Given the description of an element on the screen output the (x, y) to click on. 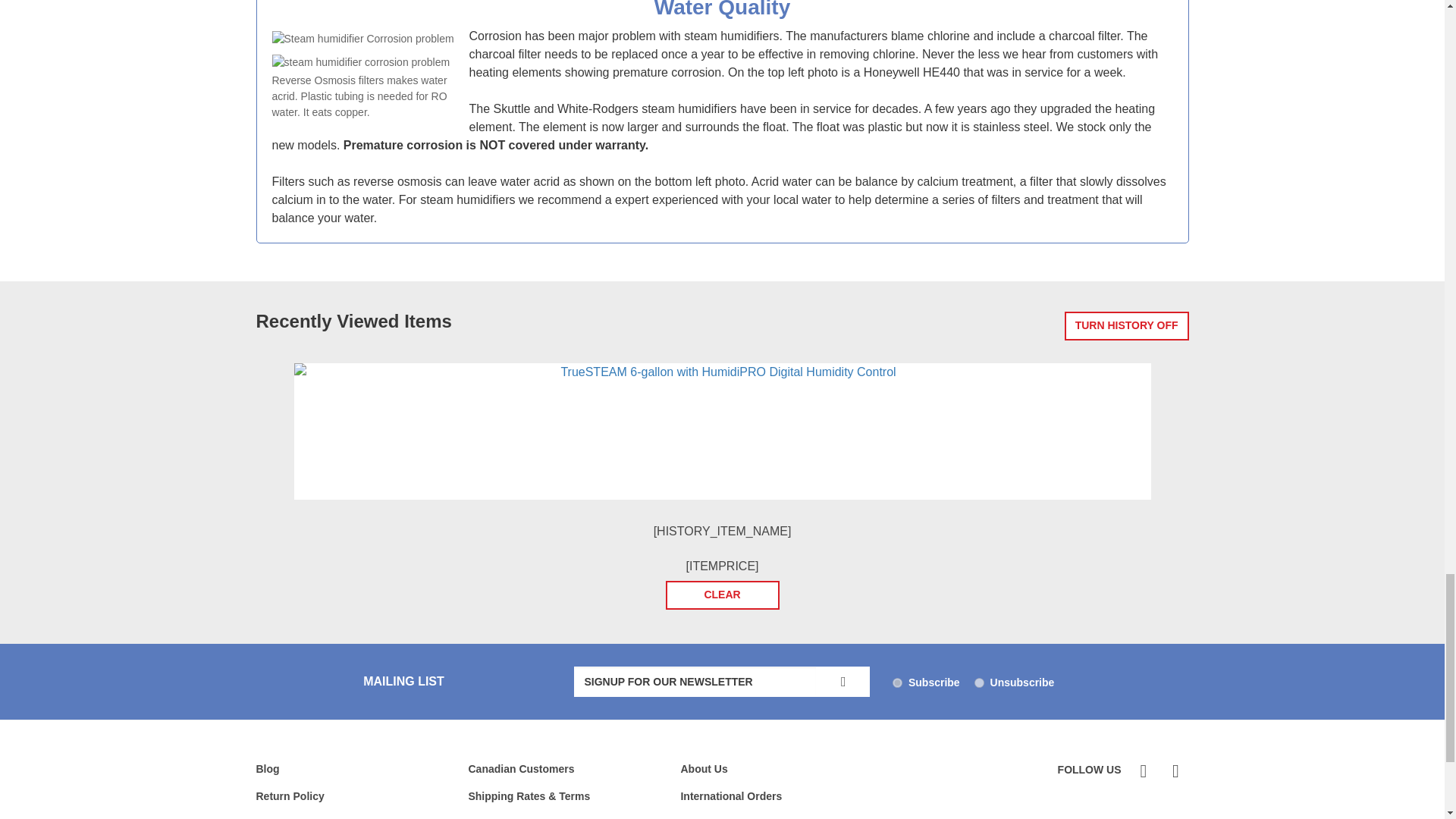
Subscribe to our Channel (1173, 771)
1 (897, 682)
Like Us on Facebook (1142, 771)
0 (979, 682)
